Given the description of an element on the screen output the (x, y) to click on. 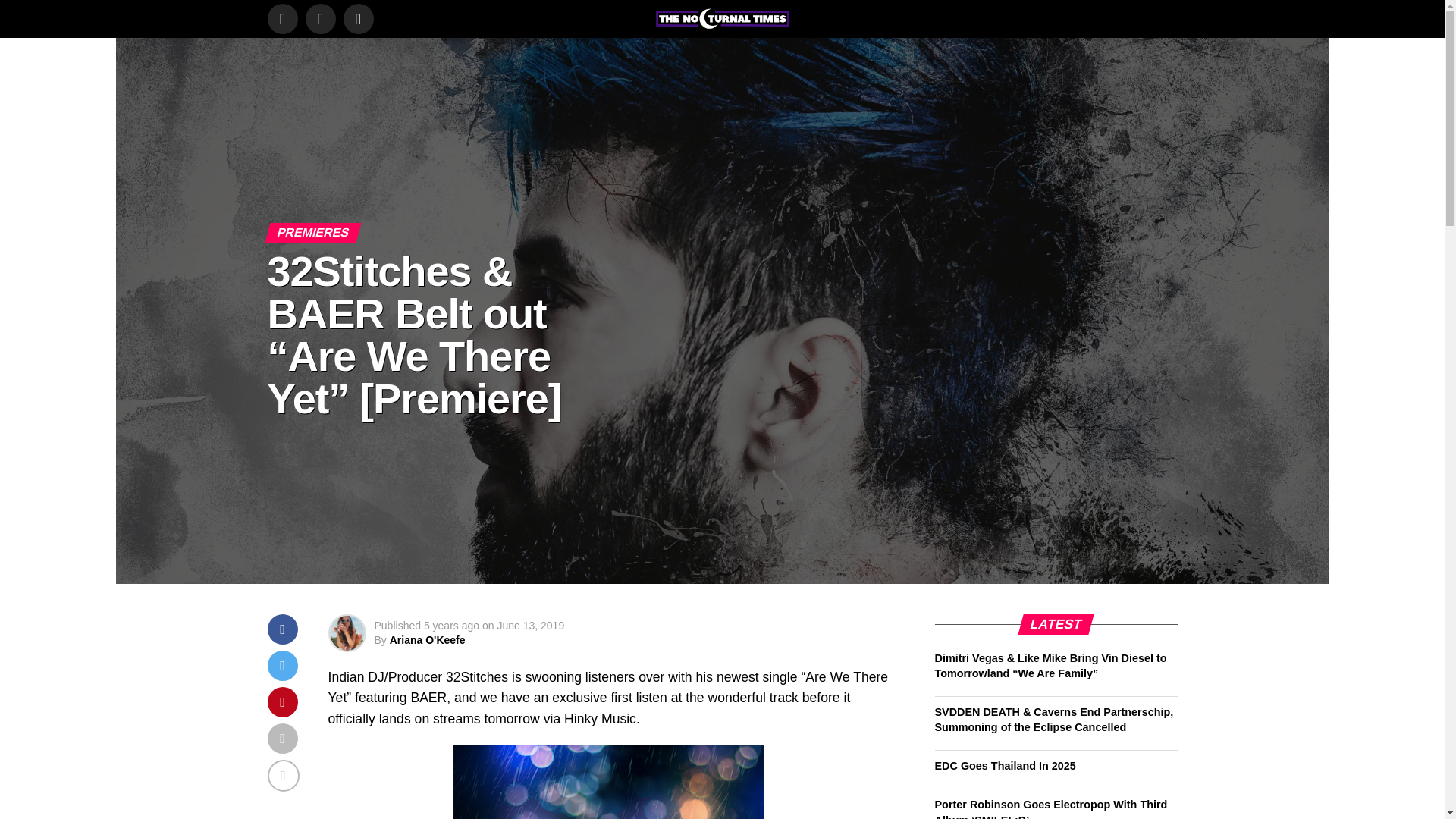
Posts by Ariana O'Keefe (427, 639)
